Given the description of an element on the screen output the (x, y) to click on. 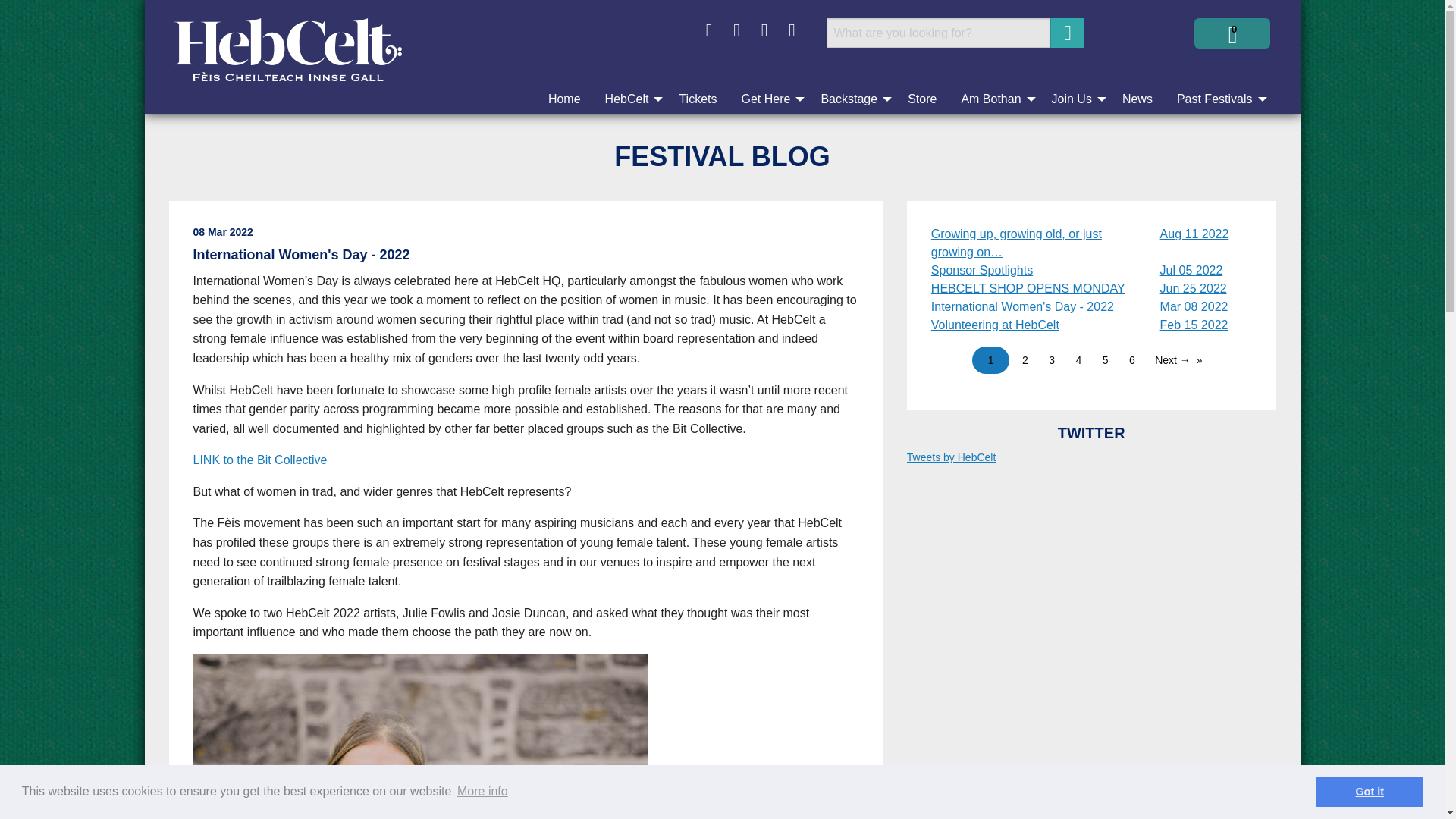
Home (563, 99)
HebCelt (629, 99)
Backstage (851, 99)
Find us on Facebook (708, 30)
Got it (1369, 791)
Search (1066, 32)
Store (922, 99)
Get Here (768, 99)
Am Bothan (994, 99)
Find us on YouTube (790, 30)
